Given the description of an element on the screen output the (x, y) to click on. 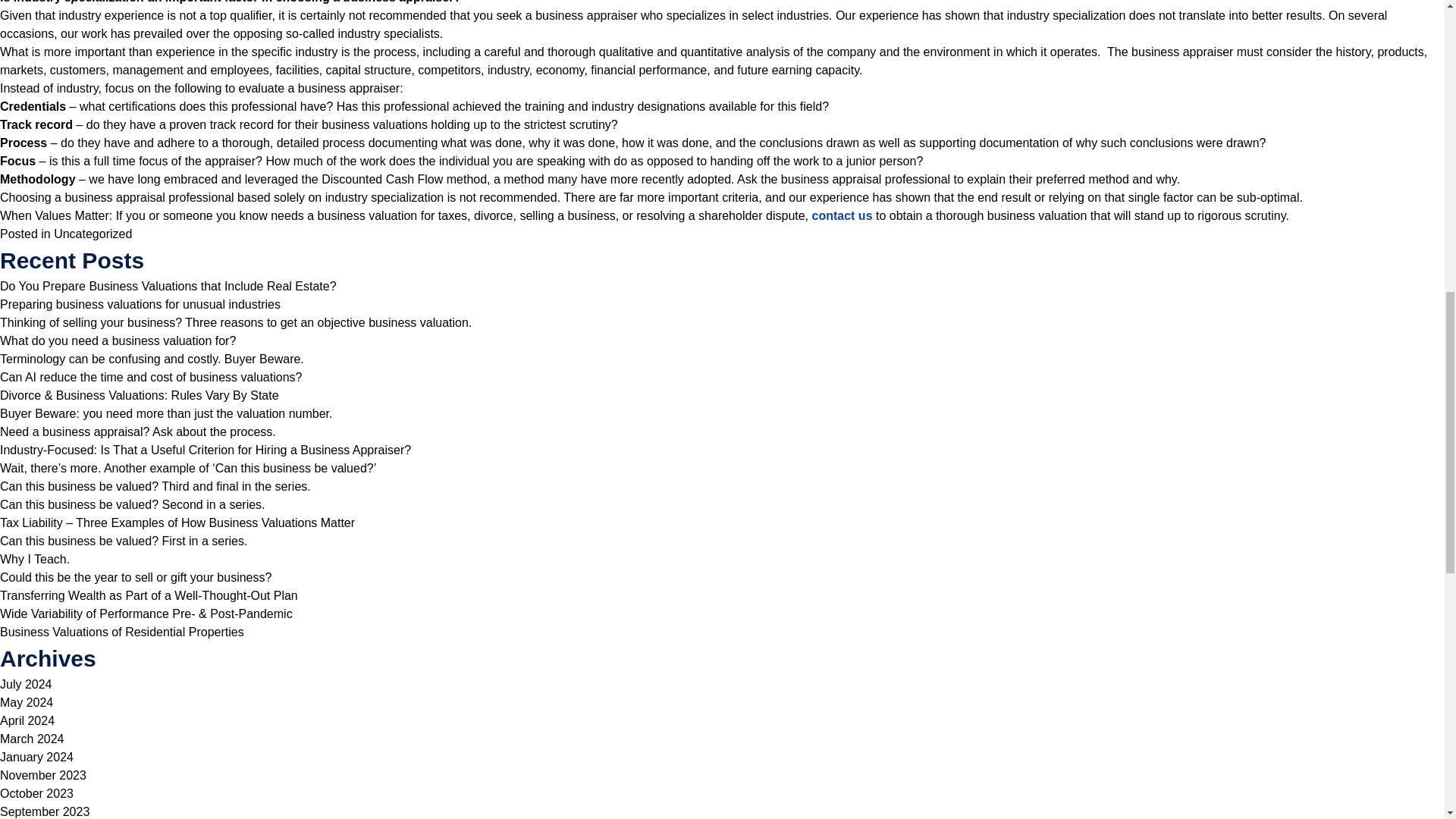
Can this business be valued? Third and final in the series. (155, 486)
Business Valuations of Residential Properties (122, 631)
Can AI reduce the time and cost of business valuations? (150, 377)
Buyer Beware: you need more than just the valuation number. (165, 413)
Transferring Wealth as Part of a Well-Thought-Out Plan (149, 594)
Could this be the year to sell or gift your business? (135, 576)
Do You Prepare Business Valuations that Include Real Estate? (168, 286)
Need a business appraisal? Ask about the process. (138, 431)
Uncategorized (92, 233)
Terminology can be confusing and costly. Buyer Beware. (152, 358)
Can this business be valued? First in a series. (123, 540)
July 2024 (26, 684)
Can this business be valued? Second in a series. (132, 504)
